Given the description of an element on the screen output the (x, y) to click on. 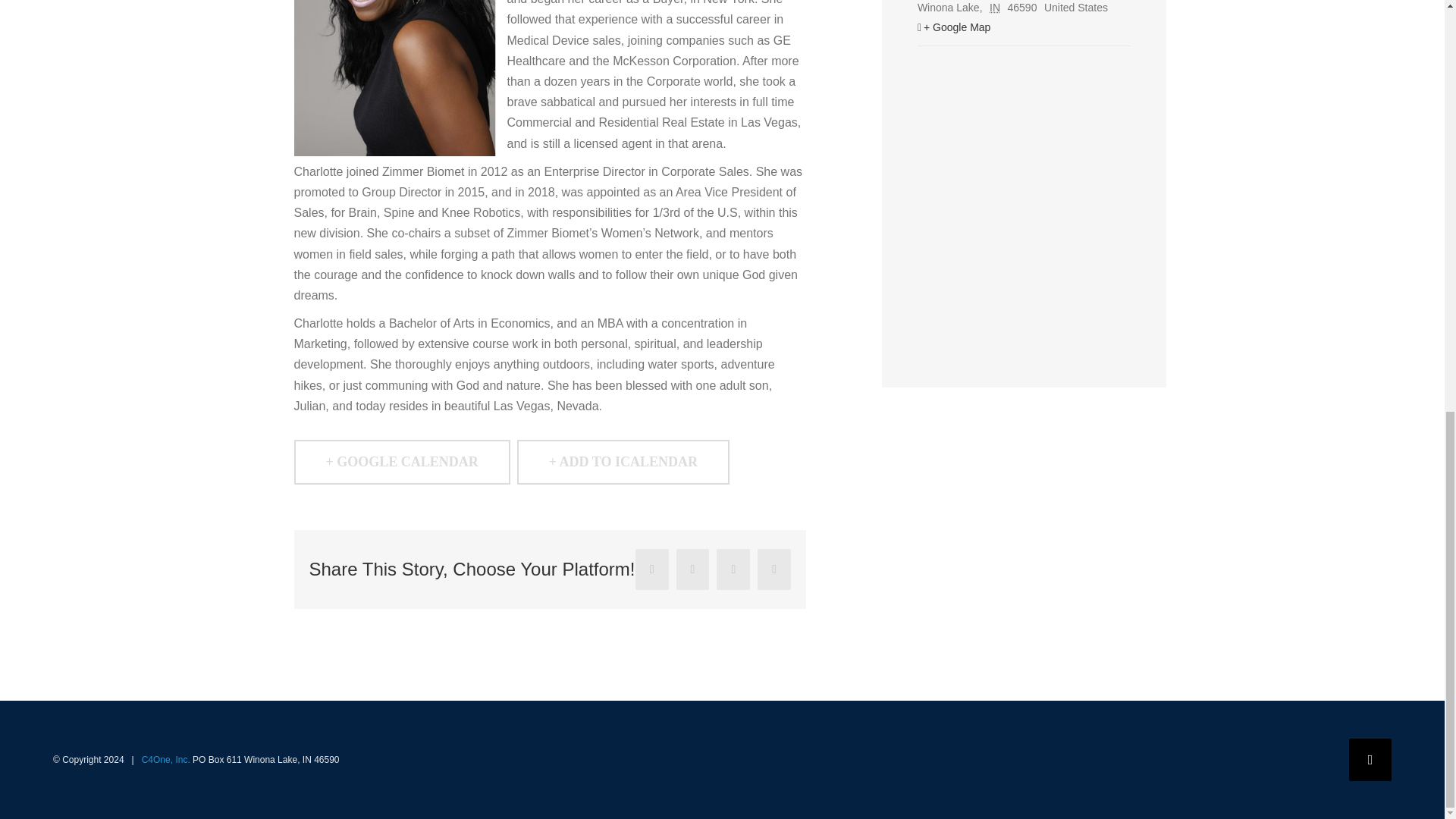
Indiana (997, 7)
Facebook (1370, 759)
Add to Google Calendar (402, 461)
Download .ics file (622, 461)
Click to view a Google Map (1024, 27)
Facebook (1370, 759)
C4One, Inc. (165, 759)
